Given the description of an element on the screen output the (x, y) to click on. 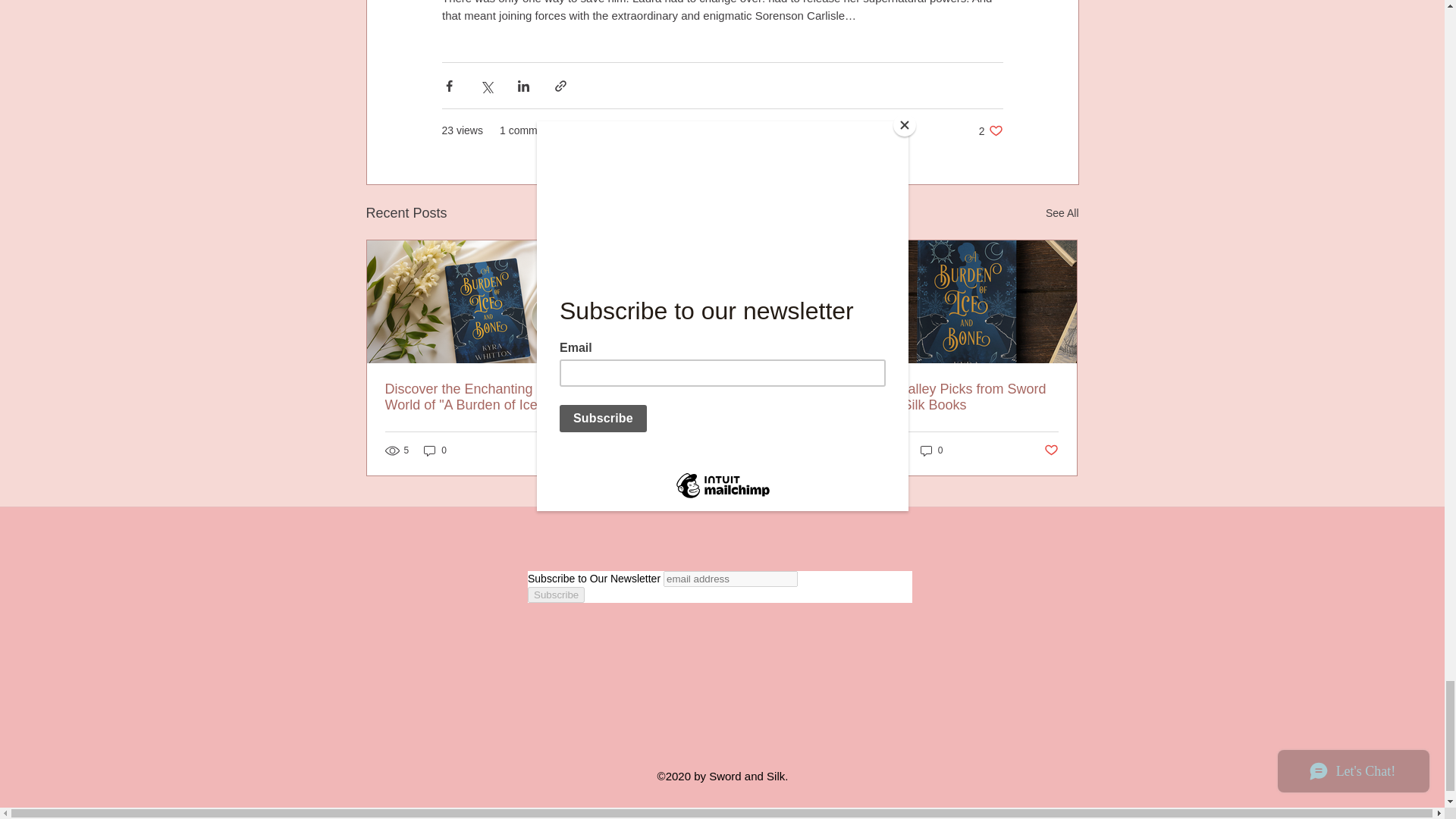
Cover Reveal - The Spoiler by LE Todd (721, 397)
Post not marked as liked (558, 450)
Discover the Enchanting World of "A Burden of Ice and Bone" (476, 397)
0 (990, 130)
0 (800, 450)
See All (435, 450)
Embedded Content (685, 450)
